Given the description of an element on the screen output the (x, y) to click on. 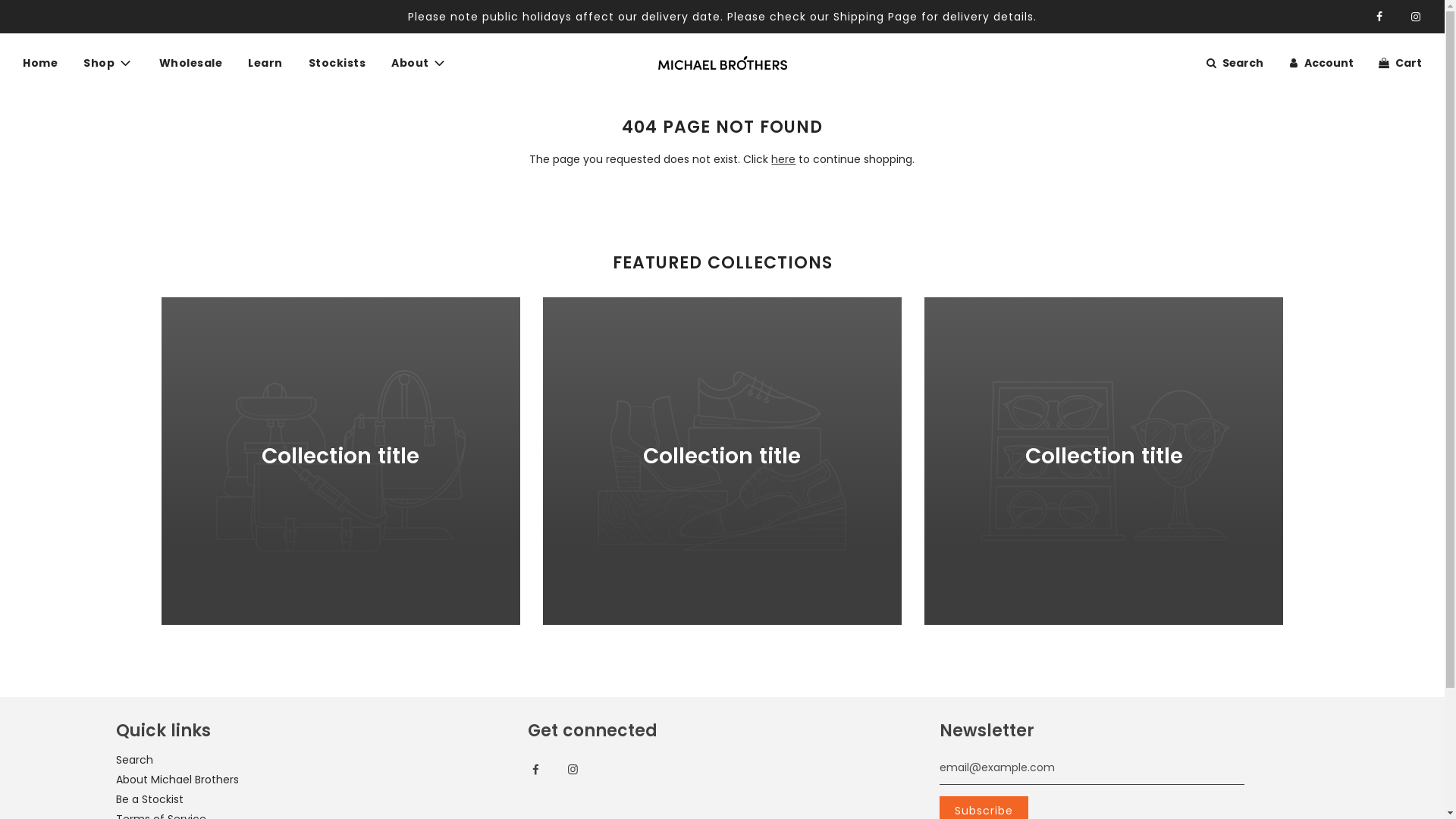
Shop Element type: text (108, 63)
Account Element type: text (1319, 62)
Search Element type: text (1233, 62)
Wholesale Element type: text (190, 62)
About Michael Brothers Element type: text (176, 779)
Cart Element type: text (1399, 62)
About Element type: text (418, 63)
Stockists Element type: text (337, 62)
Home Element type: text (40, 62)
here Element type: text (783, 158)
Learn Element type: text (265, 62)
Search Element type: text (133, 759)
Be a Stockist Element type: text (148, 798)
